Given the description of an element on the screen output the (x, y) to click on. 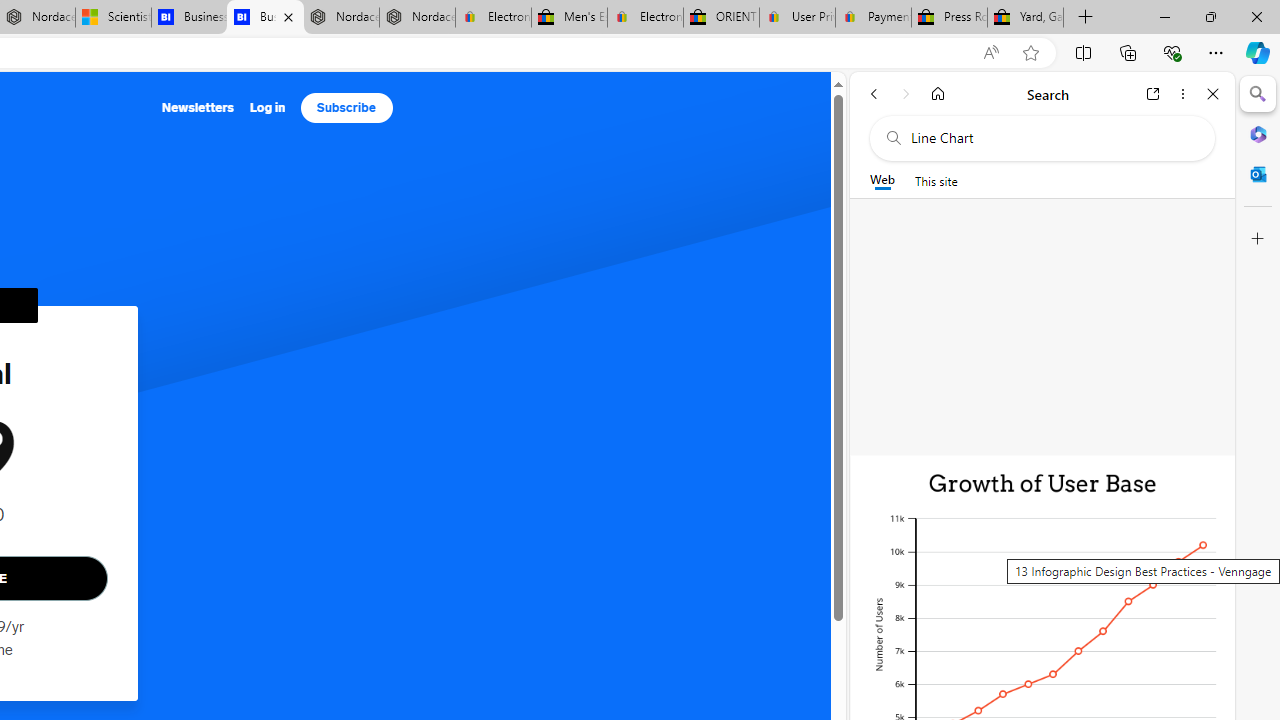
Subscribe (345, 107)
